Given the description of an element on the screen output the (x, y) to click on. 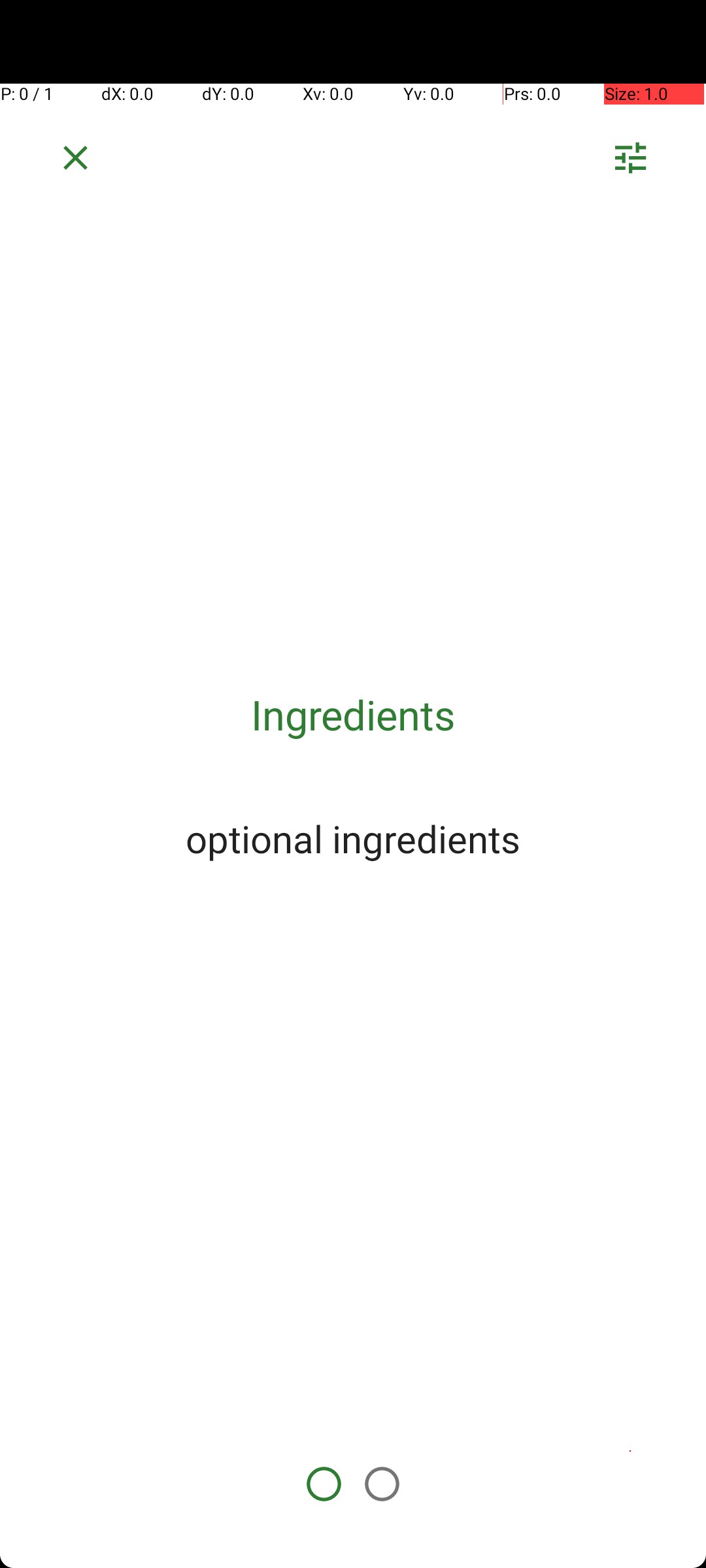
optional ingredients Element type: android.widget.TextView (353, 838)
